Given the description of an element on the screen output the (x, y) to click on. 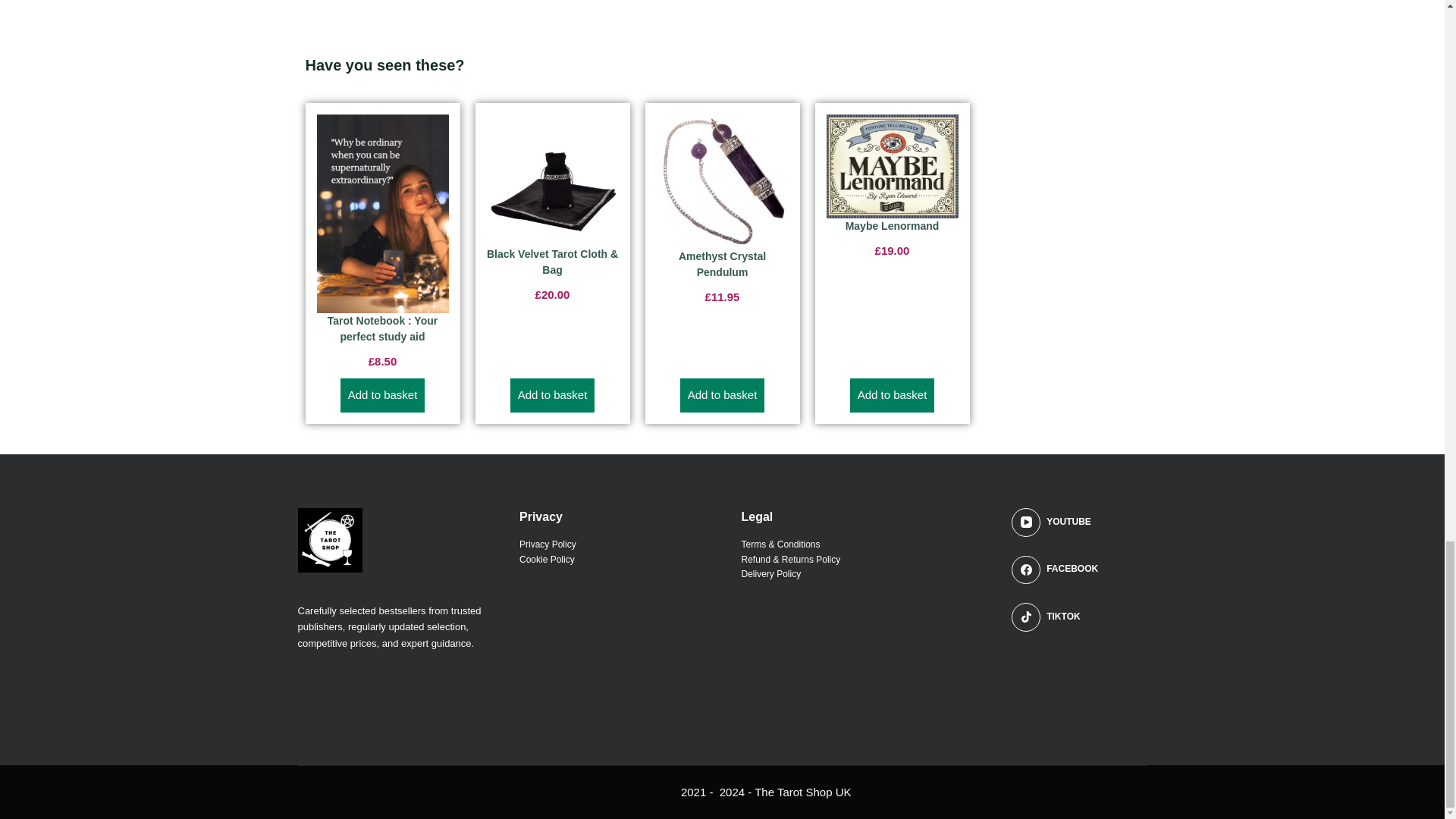
tarot notebook with guides (382, 213)
Maybe Lenormand Box (892, 165)
Amethyst Pendulum (722, 181)
black velvet tarot cloth and bag (552, 180)
